Given the description of an element on the screen output the (x, y) to click on. 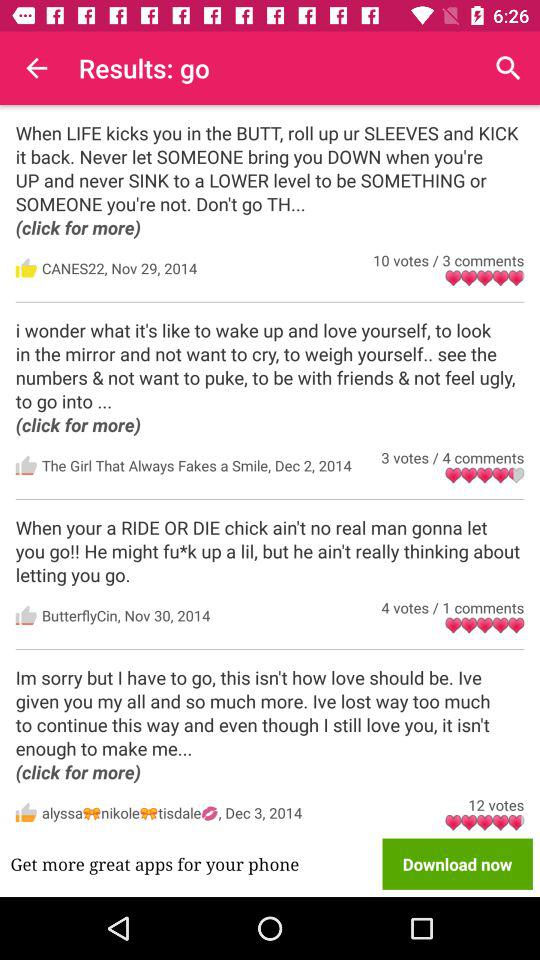
press download now (457, 863)
